Given the description of an element on the screen output the (x, y) to click on. 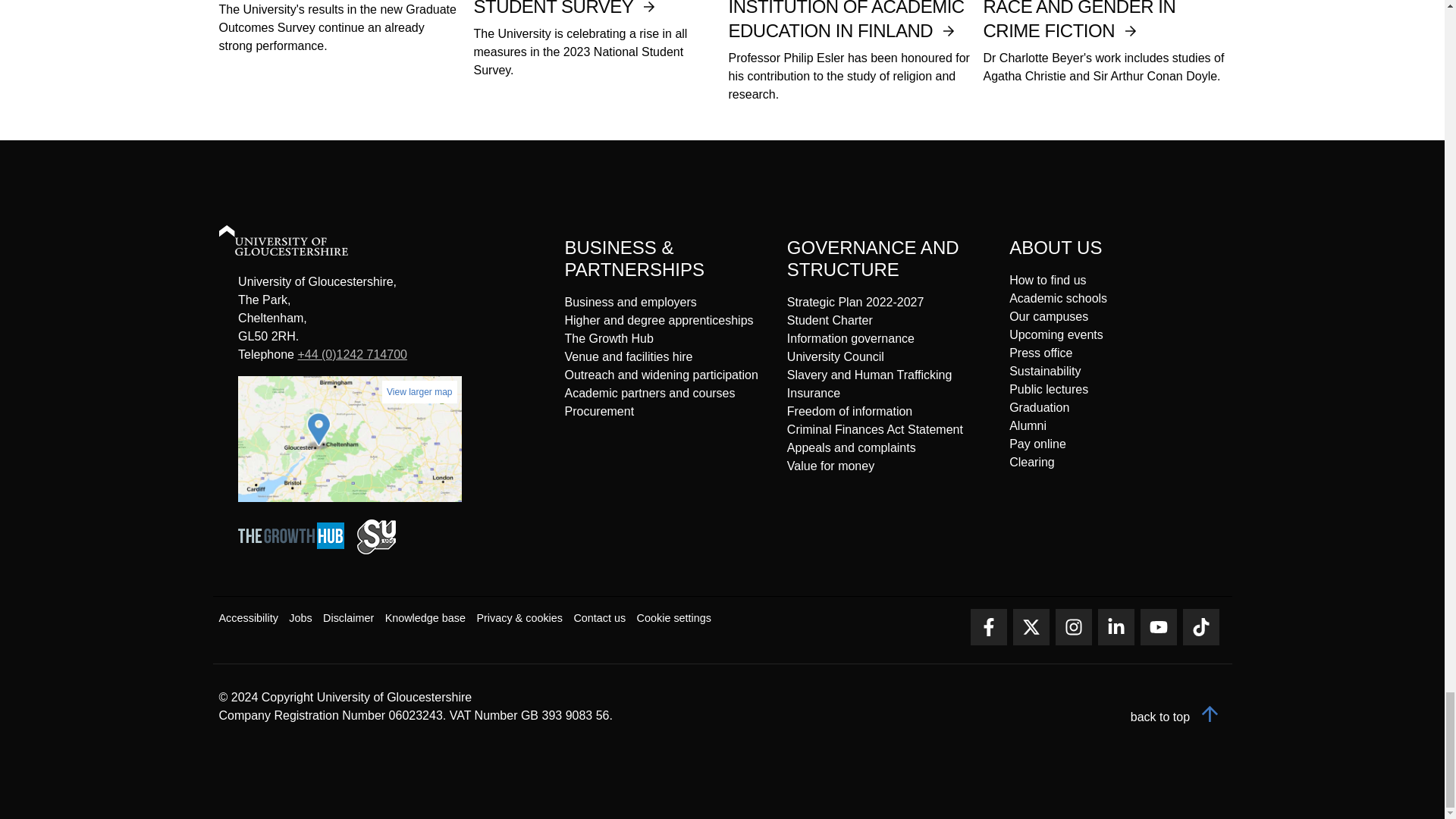
Connect on Facebook (989, 627)
back to top (1178, 716)
Go to the Home Page (296, 243)
Go to The Growth Hub website. (295, 549)
